Given the description of an element on the screen output the (x, y) to click on. 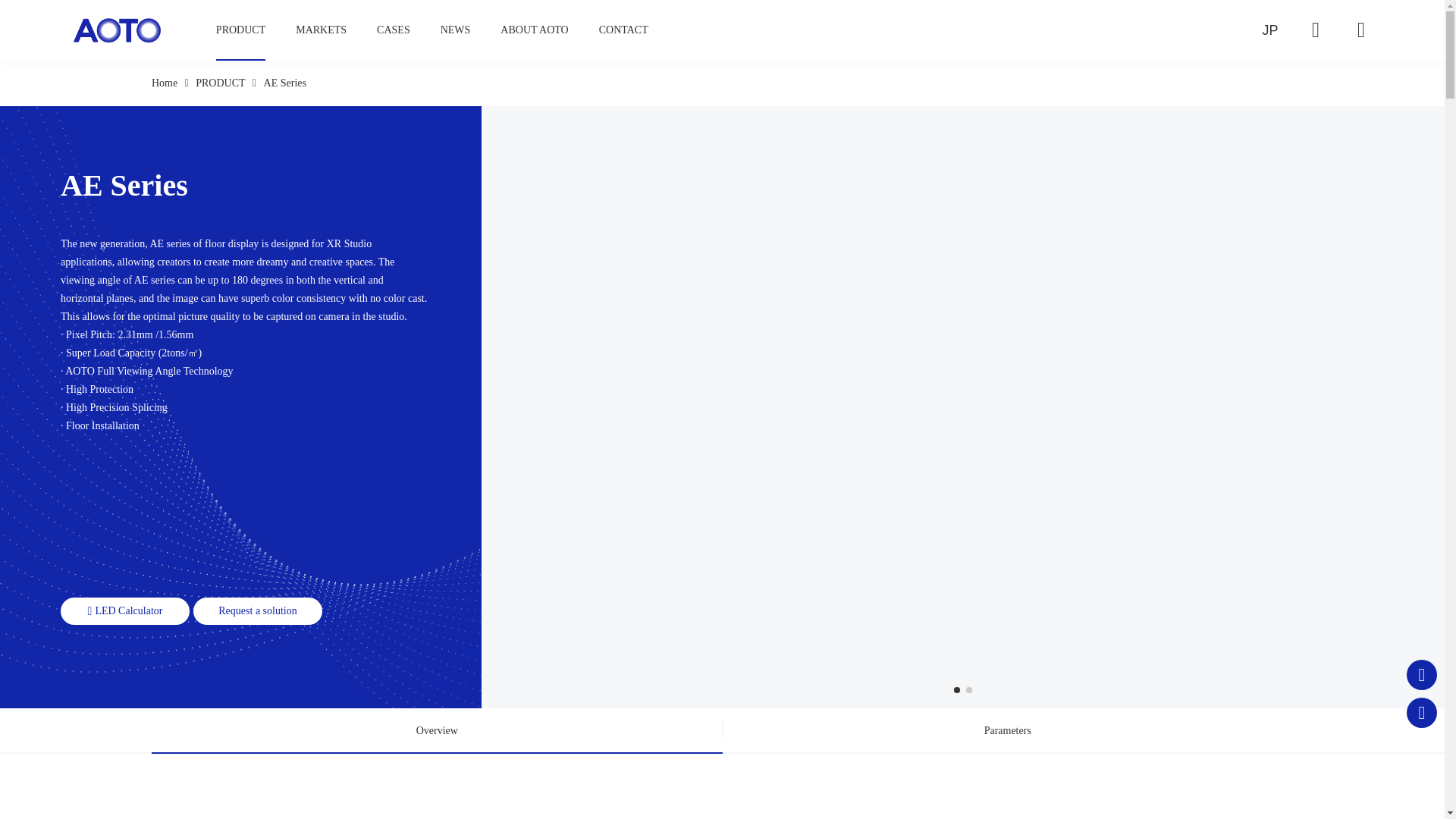
ABOUT AOTO (533, 30)
MARKETS (320, 30)
PRODUCT (239, 30)
JP (1269, 30)
CONTACT (622, 30)
